Given the description of an element on the screen output the (x, y) to click on. 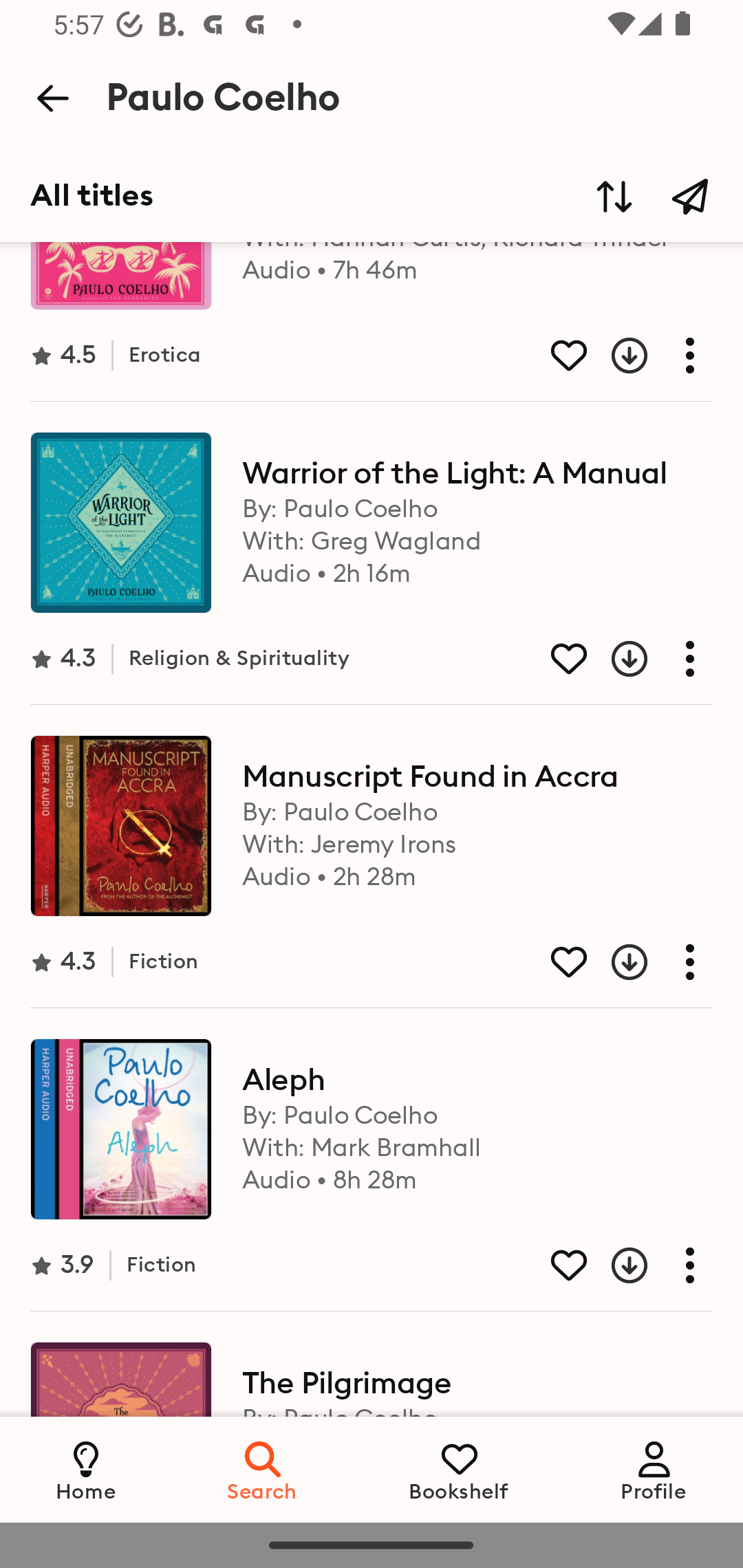
Back (52, 98)
Download (613, 355)
Download (613, 658)
Download (613, 962)
Download (613, 1264)
Home (85, 1468)
Search (262, 1468)
Bookshelf (458, 1468)
Profile (653, 1468)
